Given the description of an element on the screen output the (x, y) to click on. 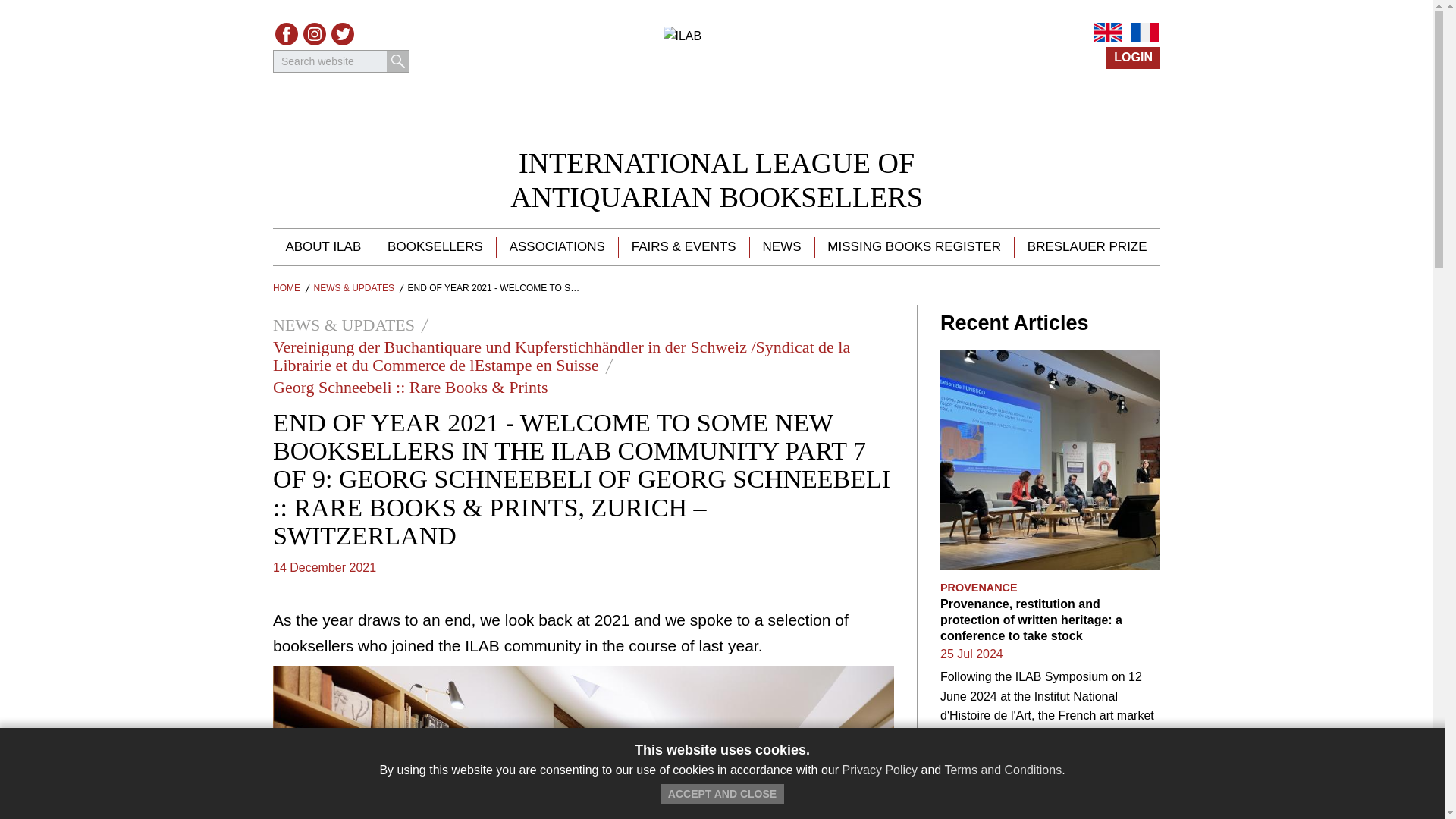
ABOUT ILAB (323, 246)
EN (1107, 32)
MISSING BOOKS REGISTER (913, 246)
See our Instagram feed (314, 33)
Terms and Conditions (716, 180)
ACCEPT AND CLOSE (1002, 769)
LOGIN (722, 793)
See our Twitter posts (1133, 57)
NEWS (342, 33)
HOME (781, 246)
ASSOCIATIONS (286, 287)
FR (556, 246)
BRESLAUER PRIZE (1144, 32)
Return to ILAB main site (1086, 246)
